Given the description of an element on the screen output the (x, y) to click on. 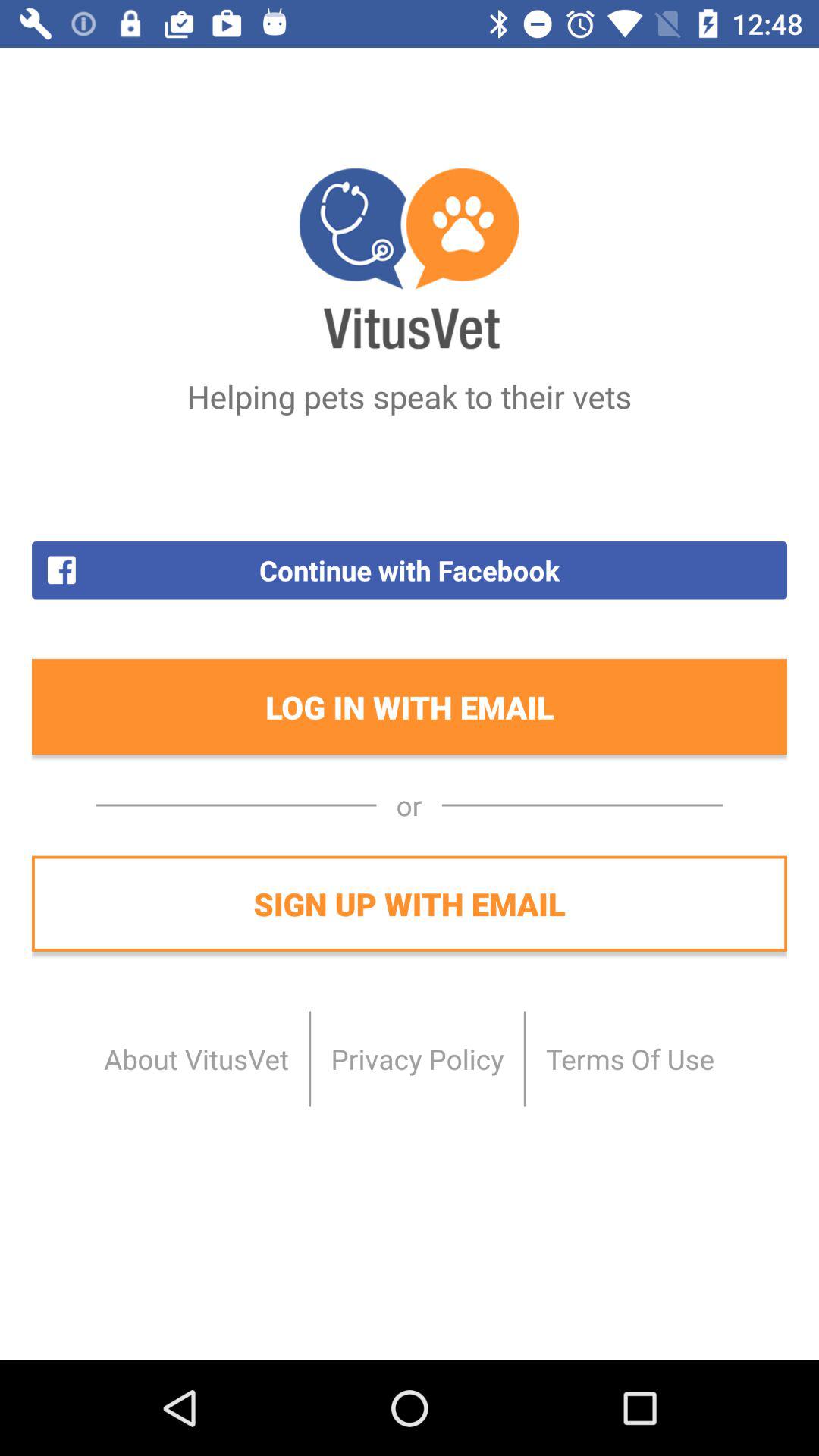
turn on the log in with item (409, 706)
